Given the description of an element on the screen output the (x, y) to click on. 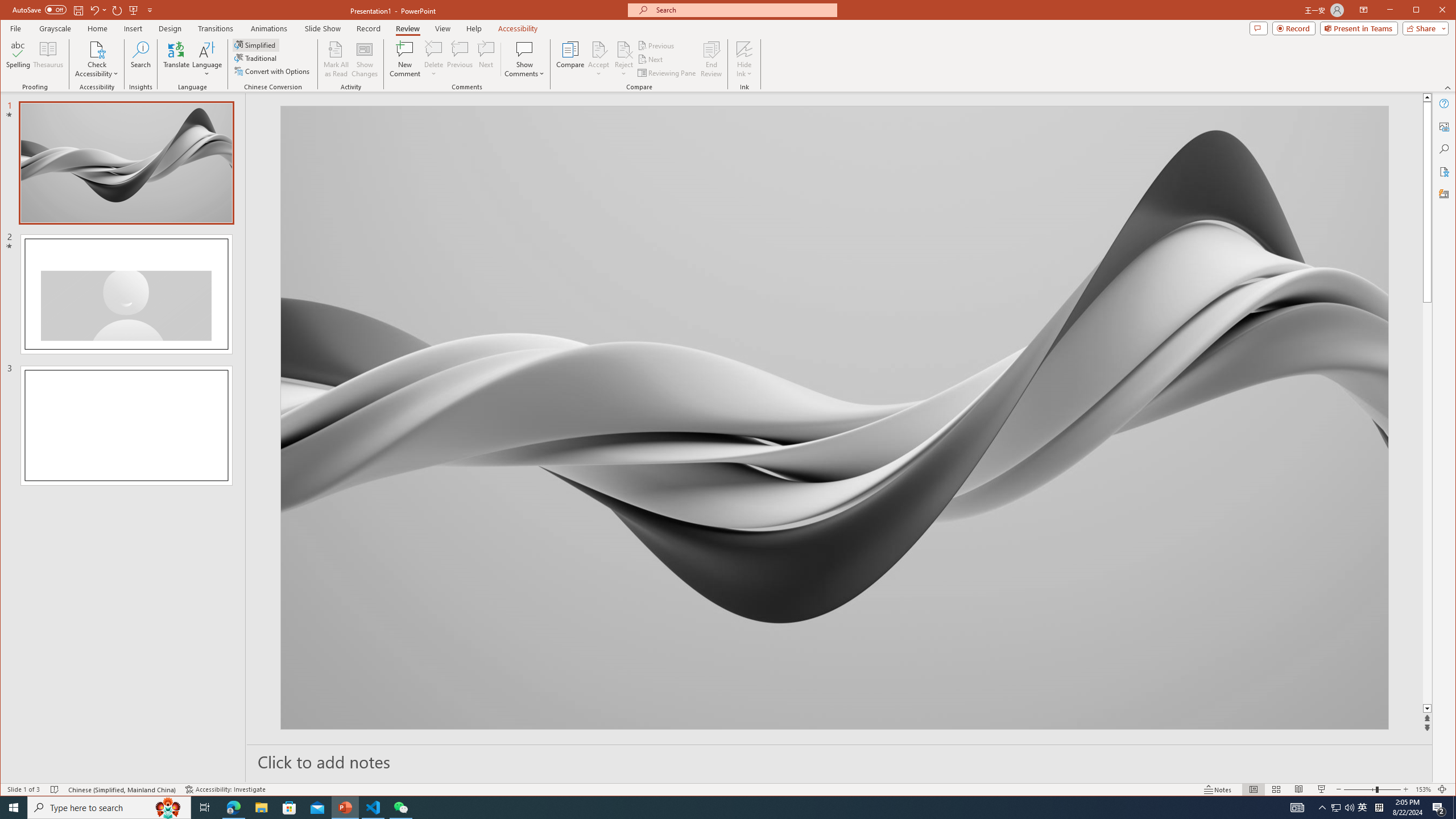
Traditional (256, 57)
Zoom 153% (1422, 789)
Language (207, 59)
